Given the description of an element on the screen output the (x, y) to click on. 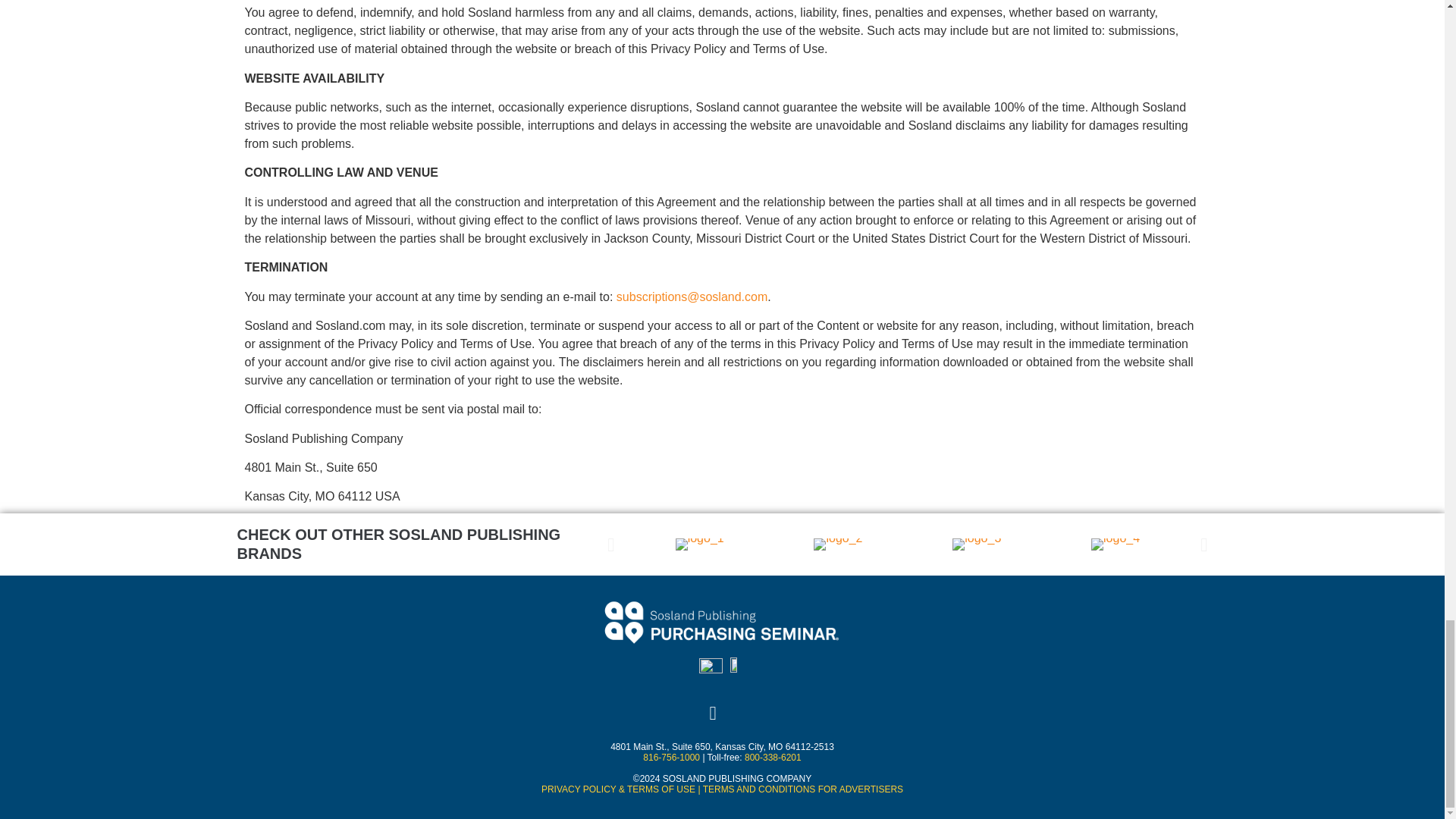
816-756-1000 (671, 757)
800-338-6201 (773, 757)
TERMS AND CONDITIONS FOR ADVERTISERS (802, 788)
